Given the description of an element on the screen output the (x, y) to click on. 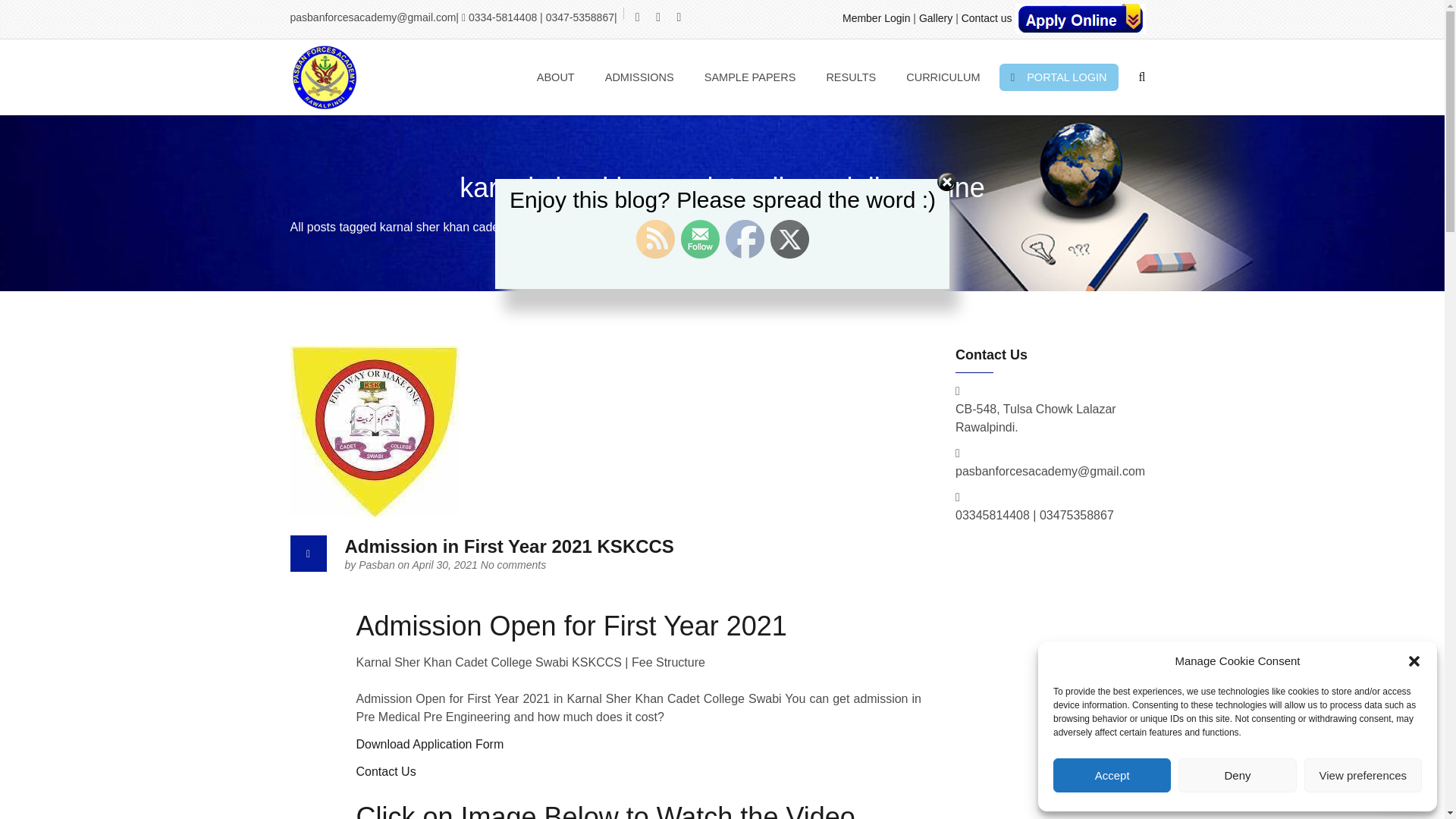
Accept (1111, 775)
Parents, Staff and Students can login to our portal. (1058, 77)
Contact us (985, 18)
CURRICULUM (943, 77)
Gallery (935, 18)
RESULTS (849, 77)
Permalink to Admission in First Year 2021 KSKCCS (507, 546)
Deny (1236, 775)
View preferences (1363, 775)
Member Login (877, 18)
ADMISSIONS (639, 77)
RSS (655, 239)
SAMPLE PAPERS (750, 77)
 PORTAL LOGIN (1058, 77)
Follow by Email (700, 239)
